Given the description of an element on the screen output the (x, y) to click on. 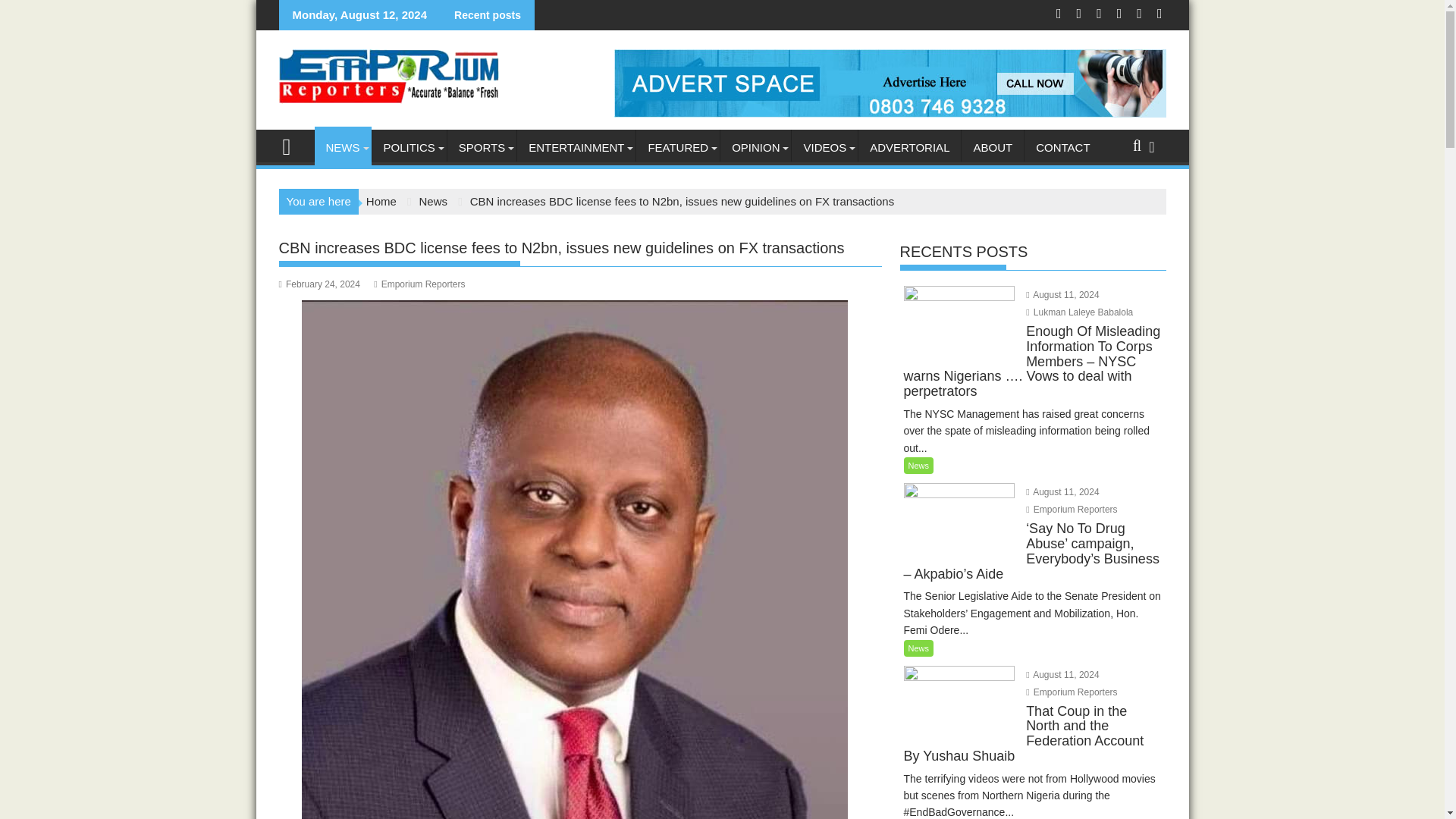
ENTERTAINMENT (575, 147)
Lukman Laleye Babalola (1079, 312)
Emporium Reporters (1071, 692)
SPORTS (481, 147)
Emporium Reporters (1071, 509)
FEATURED (677, 147)
Emporium Reporters (293, 145)
NEWS (342, 147)
POLITICS (408, 147)
